Given the description of an element on the screen output the (x, y) to click on. 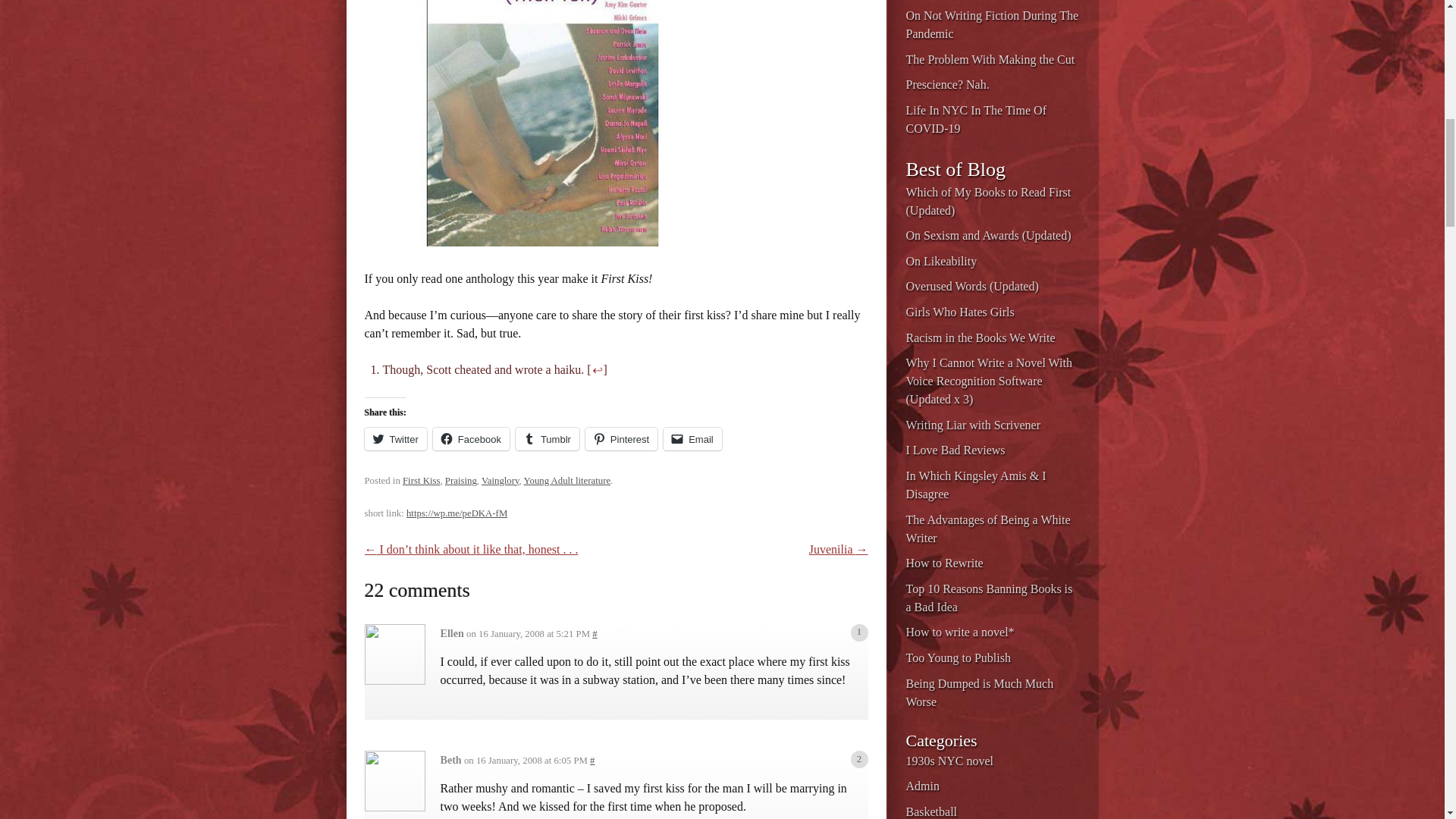
Short link to First Kiss (456, 512)
Click to share on Tumblr (547, 438)
Click to email a link to a friend (692, 438)
Click to share on Twitter (395, 438)
Click to share on Pinterest (621, 438)
Click to share on Facebook (470, 438)
